Given the description of an element on the screen output the (x, y) to click on. 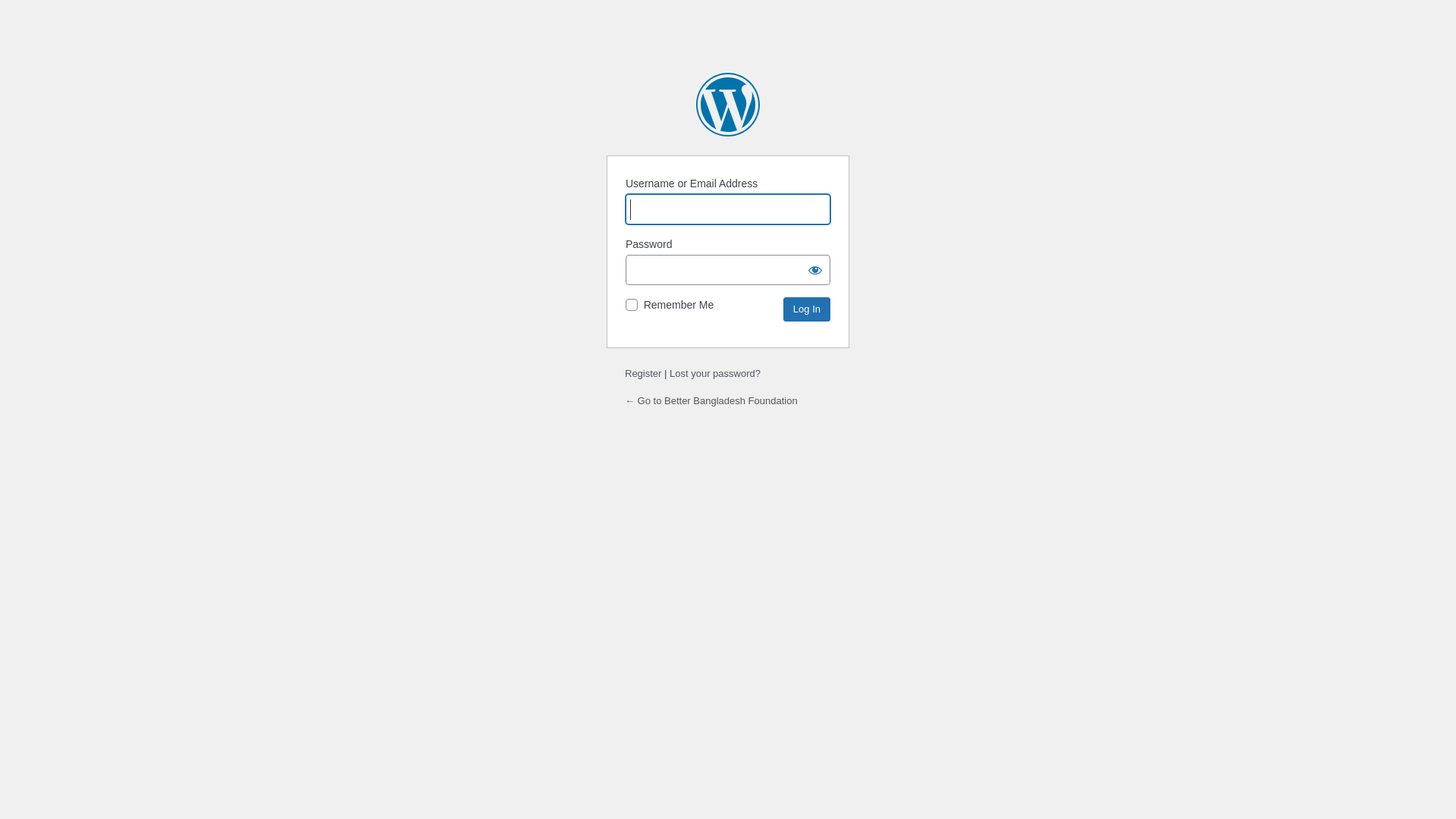
Log In Element type: text (806, 309)
Powered by WordPress Element type: text (727, 104)
Register Element type: text (642, 373)
Lost your password? Element type: text (714, 373)
